Given the description of an element on the screen output the (x, y) to click on. 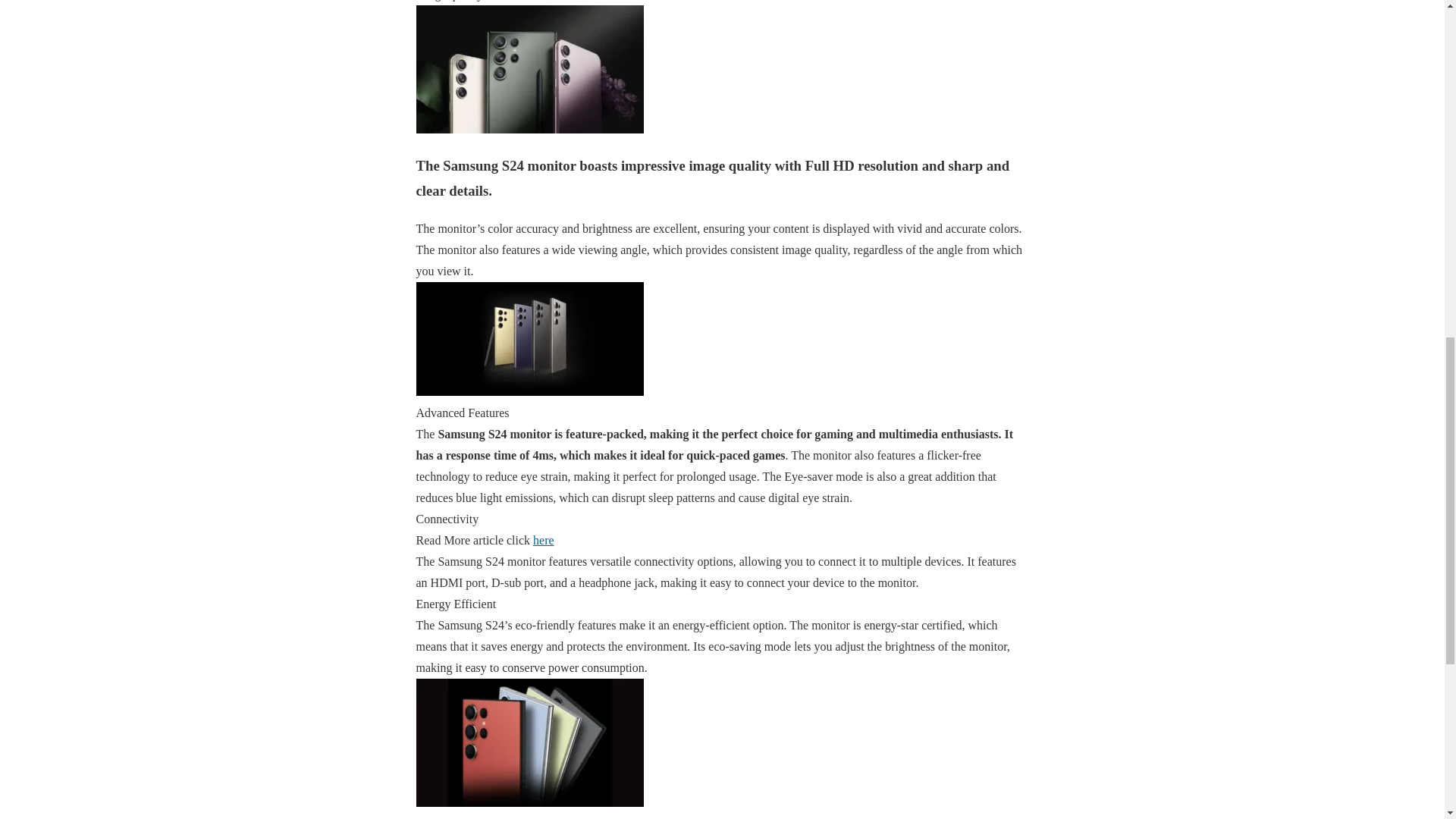
Redmi Note 12 Pro (543, 540)
here (543, 540)
